Given the description of an element on the screen output the (x, y) to click on. 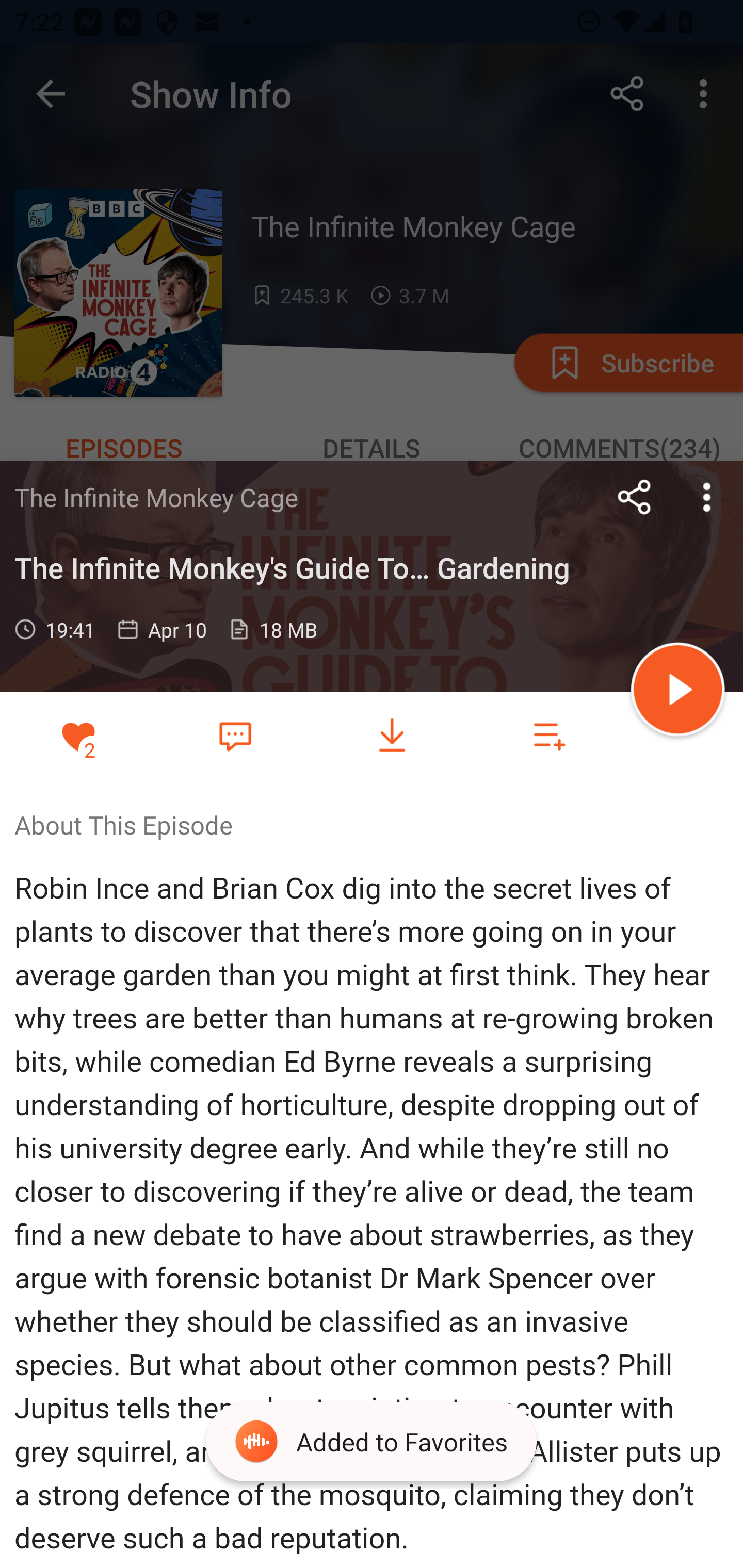
Share (634, 496)
more options (706, 496)
Play (677, 692)
Favorite (234, 735)
Remove from Favorites (78, 735)
Download (391, 735)
Add to playlist (548, 735)
